Given the description of an element on the screen output the (x, y) to click on. 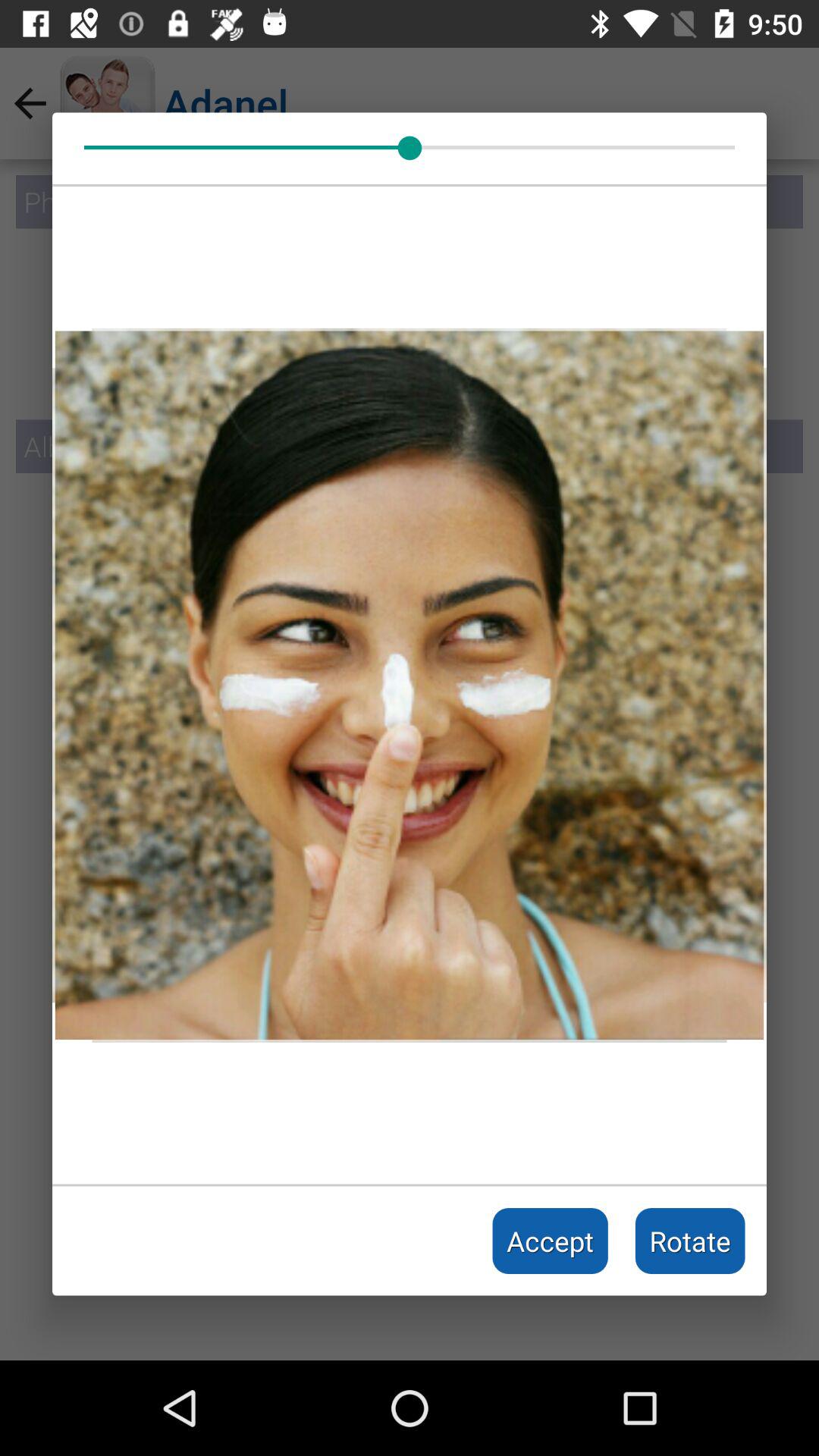
click accept item (549, 1240)
